Given the description of an element on the screen output the (x, y) to click on. 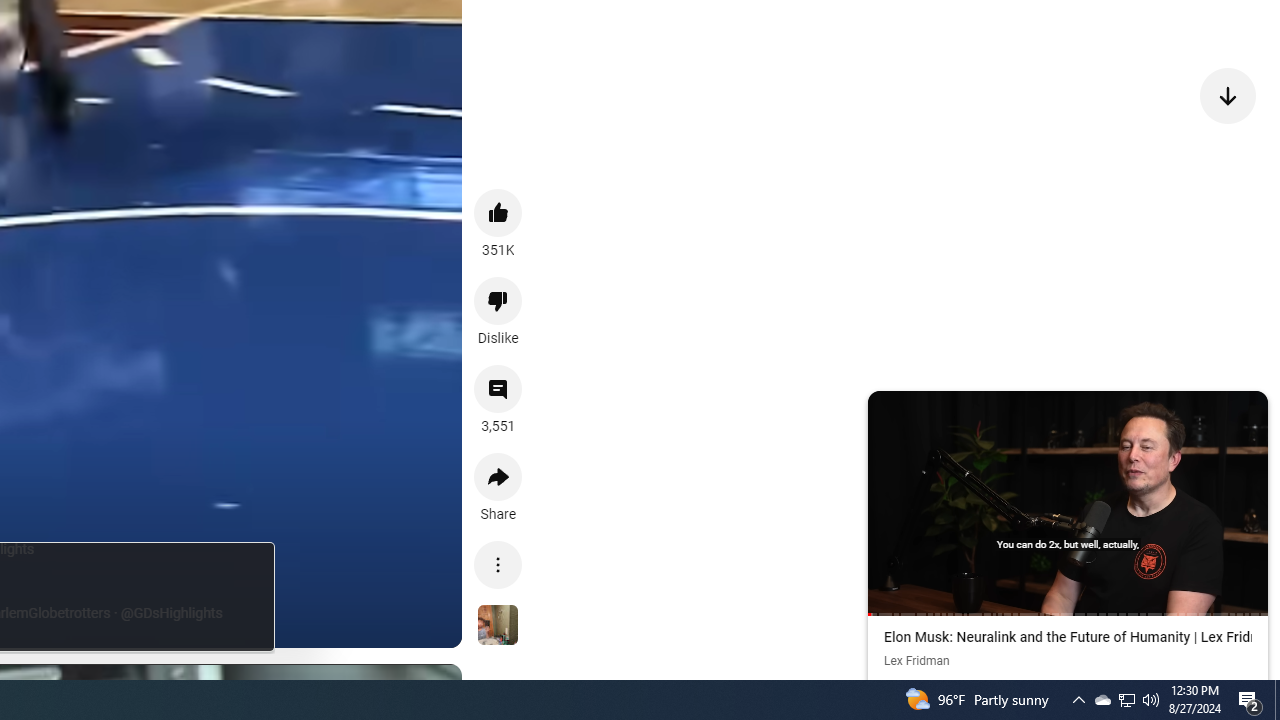
View 3,551 comments (498, 389)
Pause (k) (1067, 501)
Share (498, 476)
like this video along with 351K other people (498, 212)
Next video (1227, 94)
See more videos using this sound (497, 626)
Dislike this video (498, 300)
Expand (i) (887, 410)
Seek slider (1067, 614)
Next (SHIFT+n) (1168, 501)
More actions (498, 564)
